Given the description of an element on the screen output the (x, y) to click on. 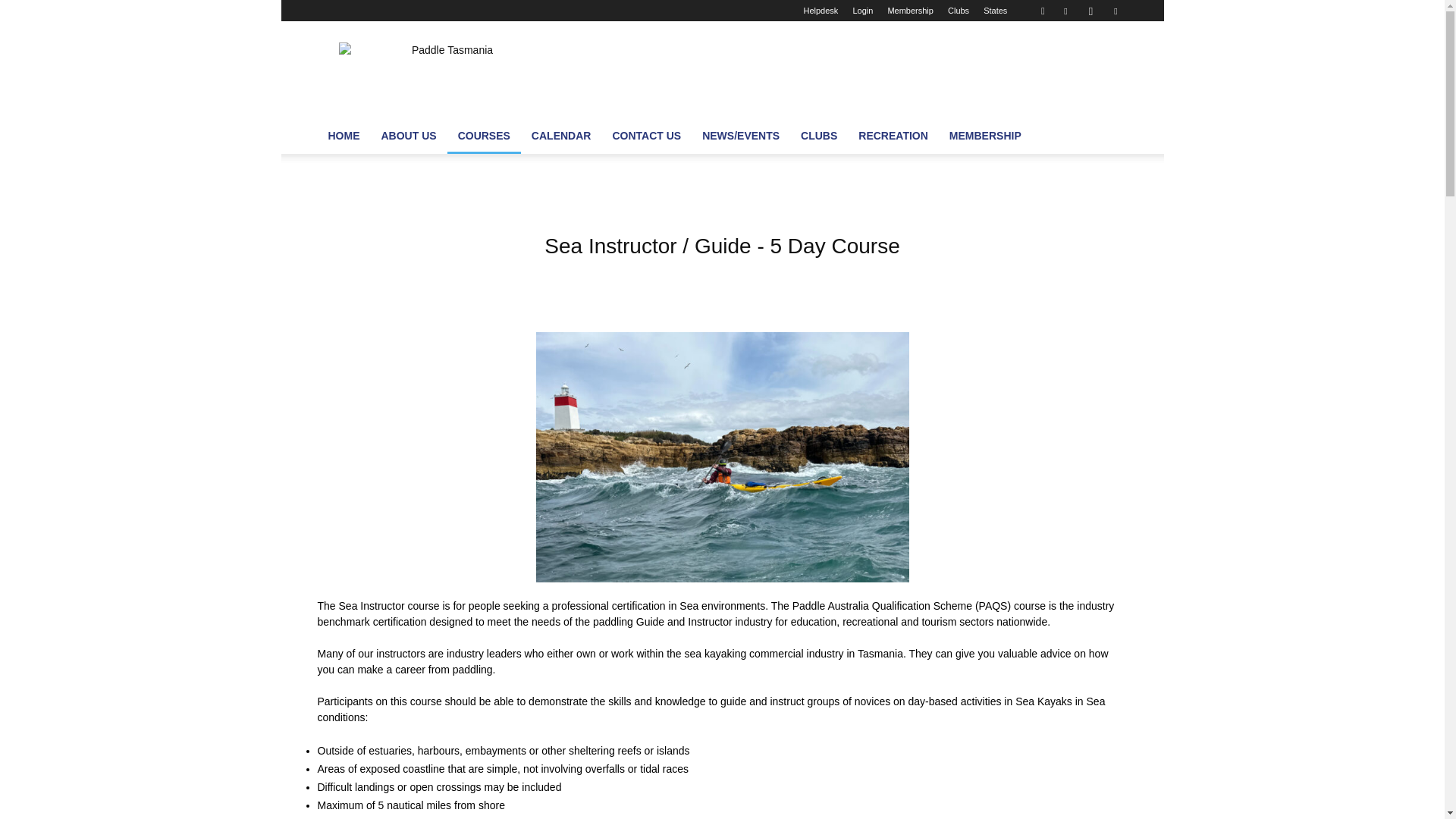
Facebook (1065, 10)
Instagram (1090, 10)
Youtube (1114, 10)
